Given the description of an element on the screen output the (x, y) to click on. 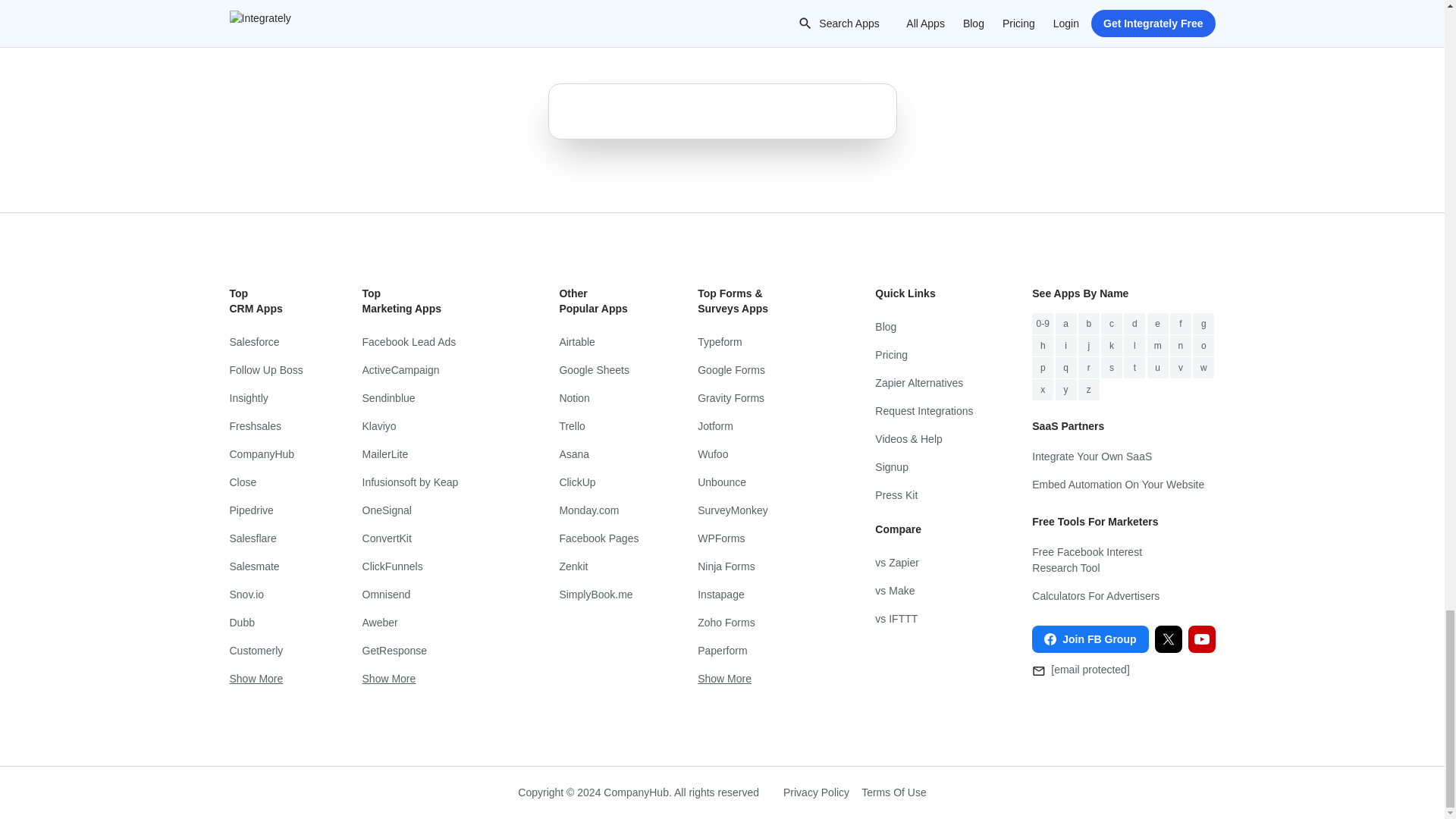
CompanyHub (265, 454)
ClickFunnels (431, 566)
Snov.io (265, 594)
Pipedrive (265, 510)
Follow Up Boss (265, 370)
Salesflare (265, 538)
Omnisend (431, 594)
OneSignal (431, 510)
ActiveCampaign (431, 370)
Facebook Lead Ads (431, 342)
ConvertKit (431, 538)
Insightly (265, 398)
Infusionsoft by Keap (431, 482)
GetResponse (431, 651)
Salesforce (265, 342)
